Given the description of an element on the screen output the (x, y) to click on. 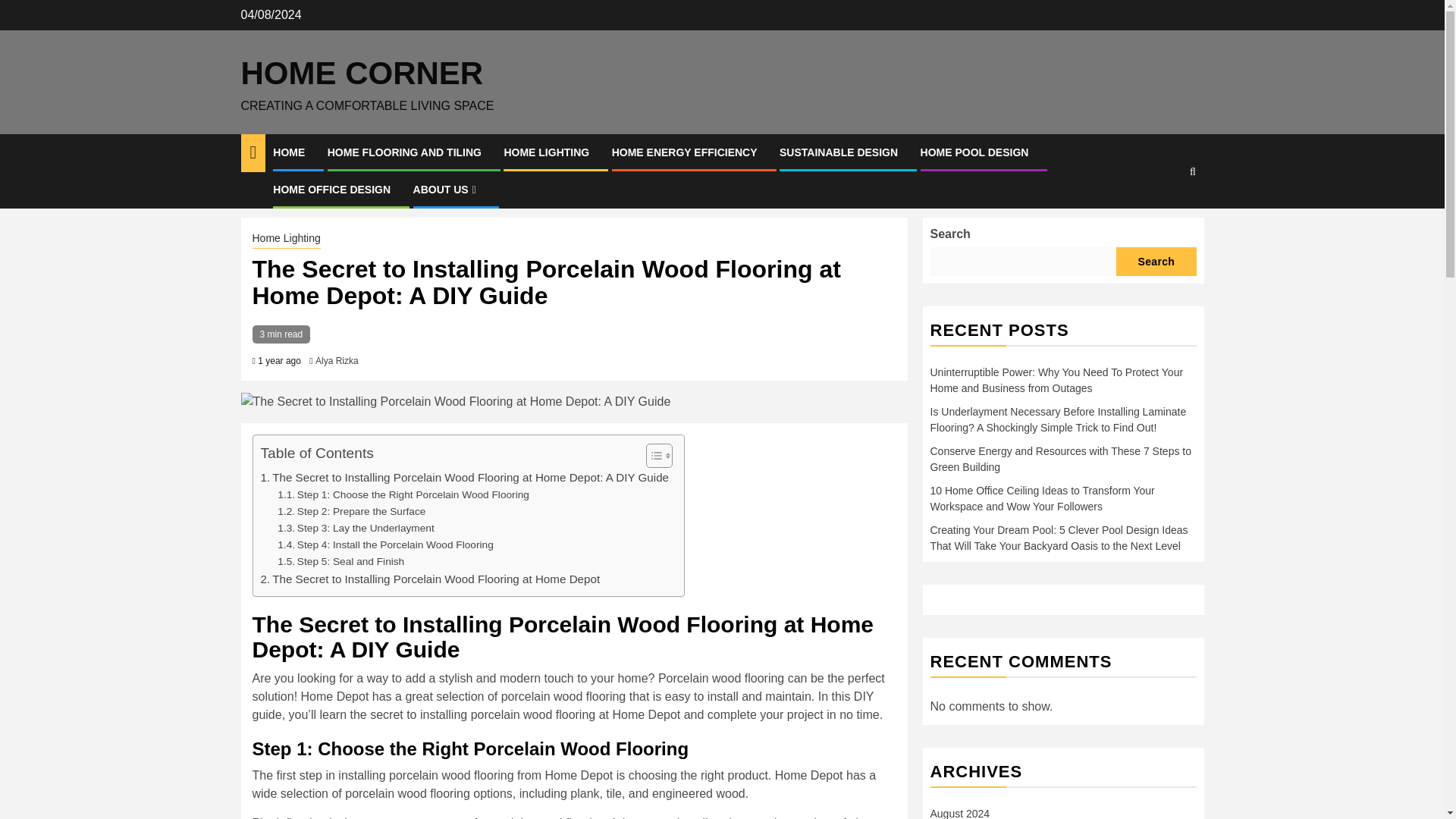
Step 3: Lay the Underlayment (355, 528)
HOME POOL DESIGN (974, 152)
HOME ENERGY EFFICIENCY (684, 152)
HOME (288, 152)
Search (1163, 217)
Home Lighting (285, 239)
Step 2: Prepare the Surface (351, 511)
ABOUT US (446, 189)
HOME CORNER (362, 72)
HOME FLOORING AND TILING (404, 152)
Step 4: Install the Porcelain Wood Flooring (385, 545)
Home (254, 194)
Step 1: Choose the Right Porcelain Wood Flooring (403, 494)
